Given the description of an element on the screen output the (x, y) to click on. 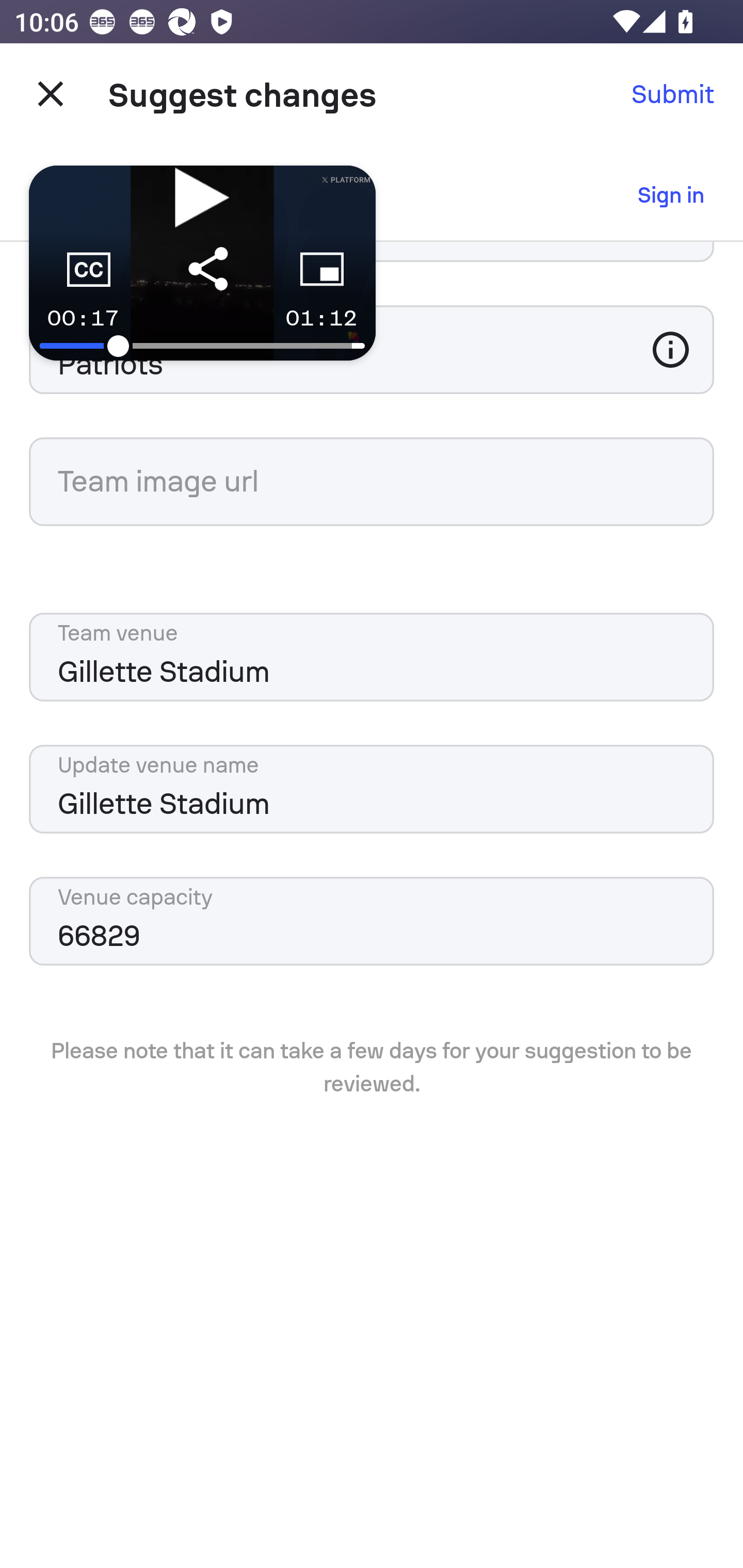
Submit (672, 93)
Sign in (670, 195)
Team image url (371, 481)
Gillette Stadium (371, 656)
Gillette Stadium (371, 789)
66829 (371, 920)
